Given the description of an element on the screen output the (x, y) to click on. 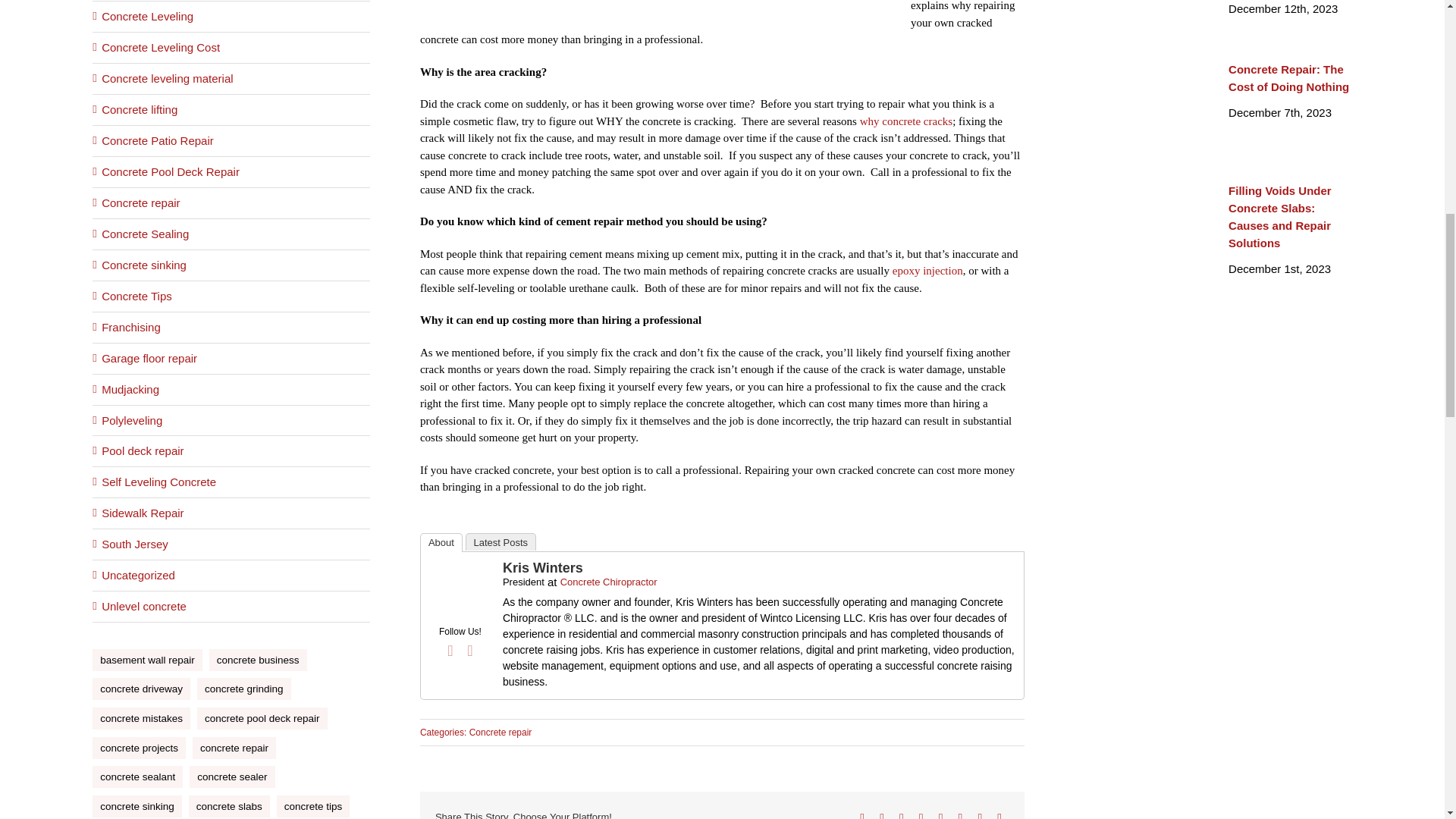
Facebook (450, 650)
Kris Winters (459, 567)
Twitter (470, 650)
